Given the description of an element on the screen output the (x, y) to click on. 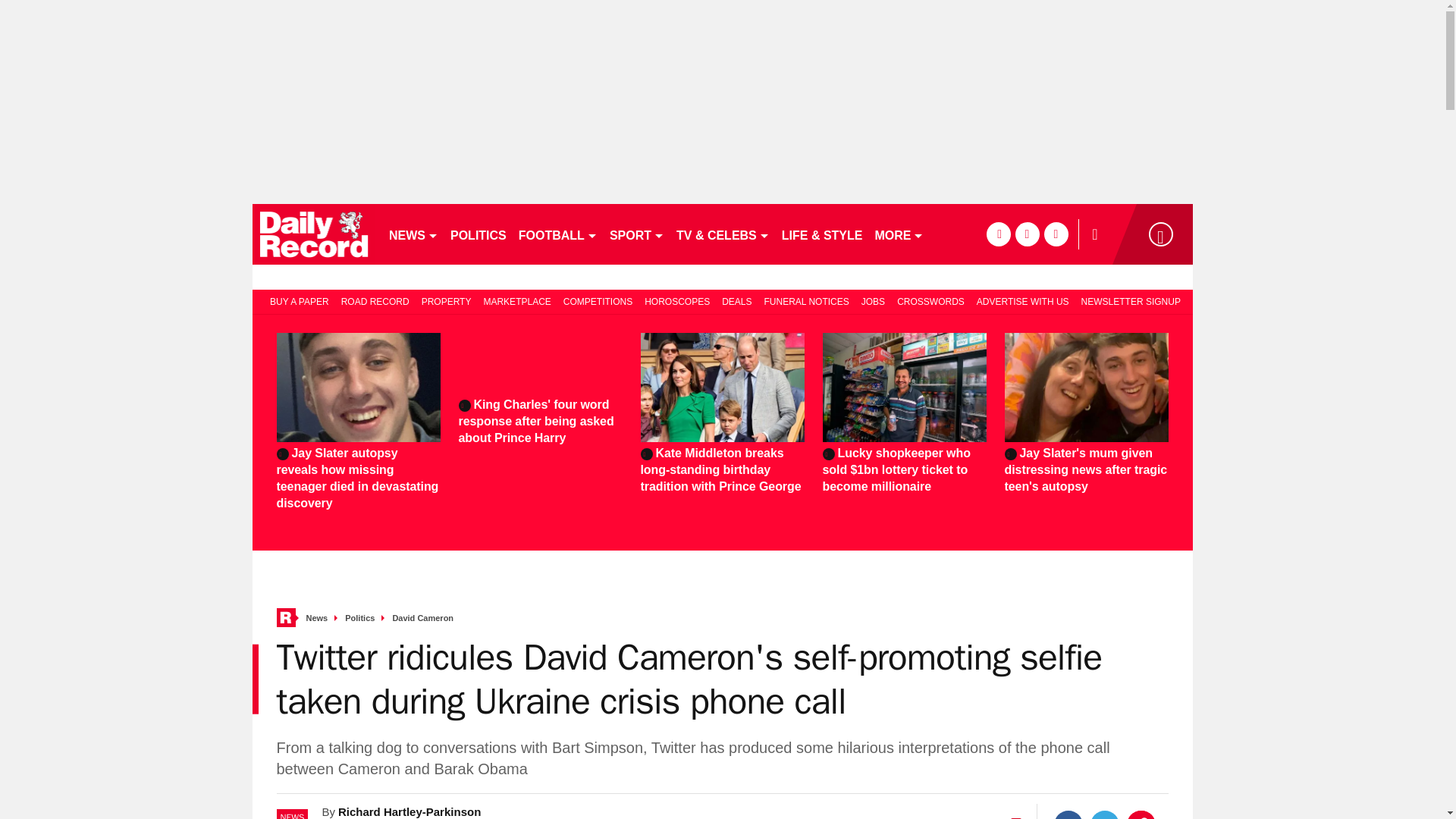
NEWS (413, 233)
SPORT (636, 233)
POLITICS (478, 233)
facebook (997, 233)
instagram (1055, 233)
Facebook (1068, 814)
FOOTBALL (558, 233)
Twitter (1104, 814)
twitter (1026, 233)
dailyrecord (313, 233)
